Given the description of an element on the screen output the (x, y) to click on. 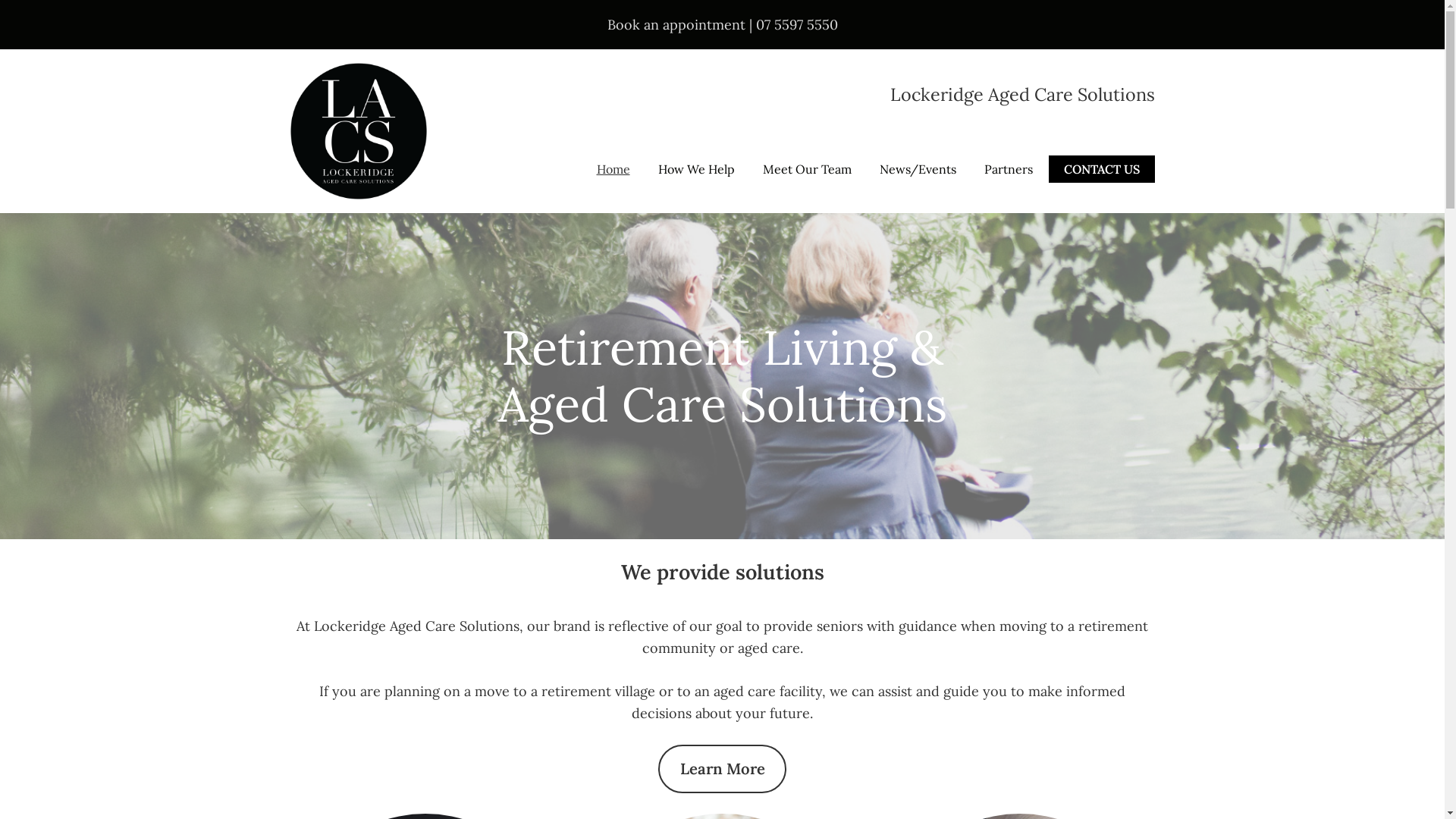
Book an appointment | 07 5597 5550 Element type: text (721, 24)
Learn More Element type: text (722, 768)
Meet Our Team Element type: text (806, 169)
Aged Care Planning Experts Element type: hover (357, 73)
CONTACT US Element type: text (1101, 169)
How We Help Element type: text (696, 169)
Skip to primary navigation Element type: text (0, 0)
Partners Element type: text (1008, 169)
Home Element type: text (612, 169)
News/Events Element type: text (917, 169)
